Given the description of an element on the screen output the (x, y) to click on. 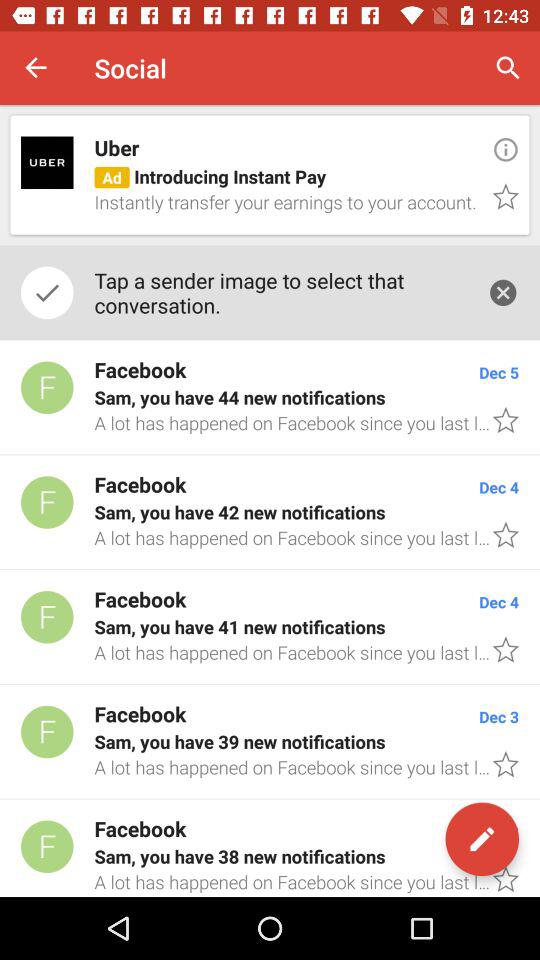
turn on tap a sender (280, 292)
